Given the description of an element on the screen output the (x, y) to click on. 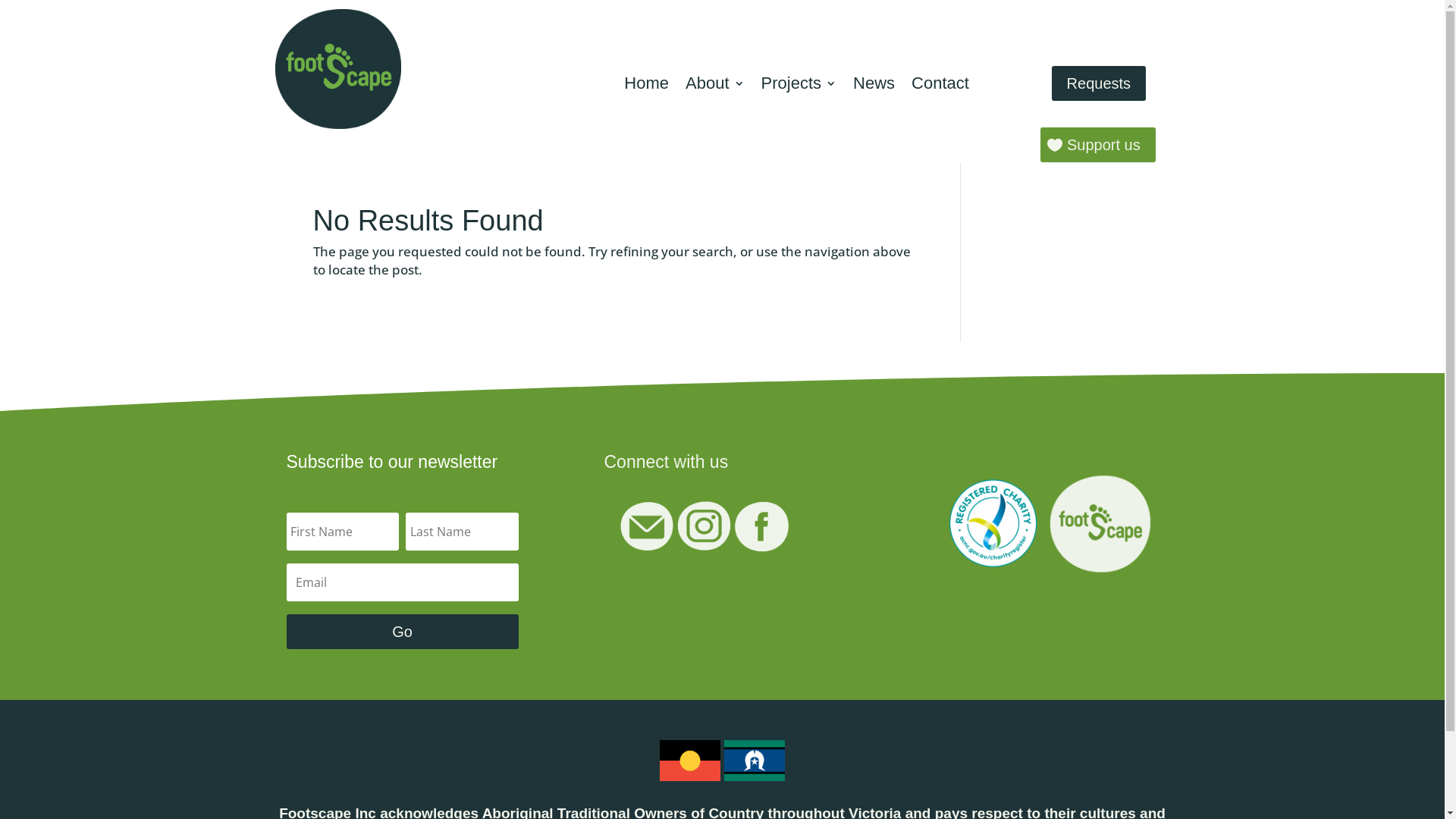
Go Element type: text (402, 631)
About Element type: text (714, 90)
Projects Element type: text (798, 90)
Support us Element type: text (1097, 144)
News Element type: text (873, 90)
Contact Element type: text (940, 90)
Home Element type: text (646, 90)
Requests Element type: text (1098, 82)
Fottscape-logo-dark-circle Element type: hover (338, 68)
